Given the description of an element on the screen output the (x, y) to click on. 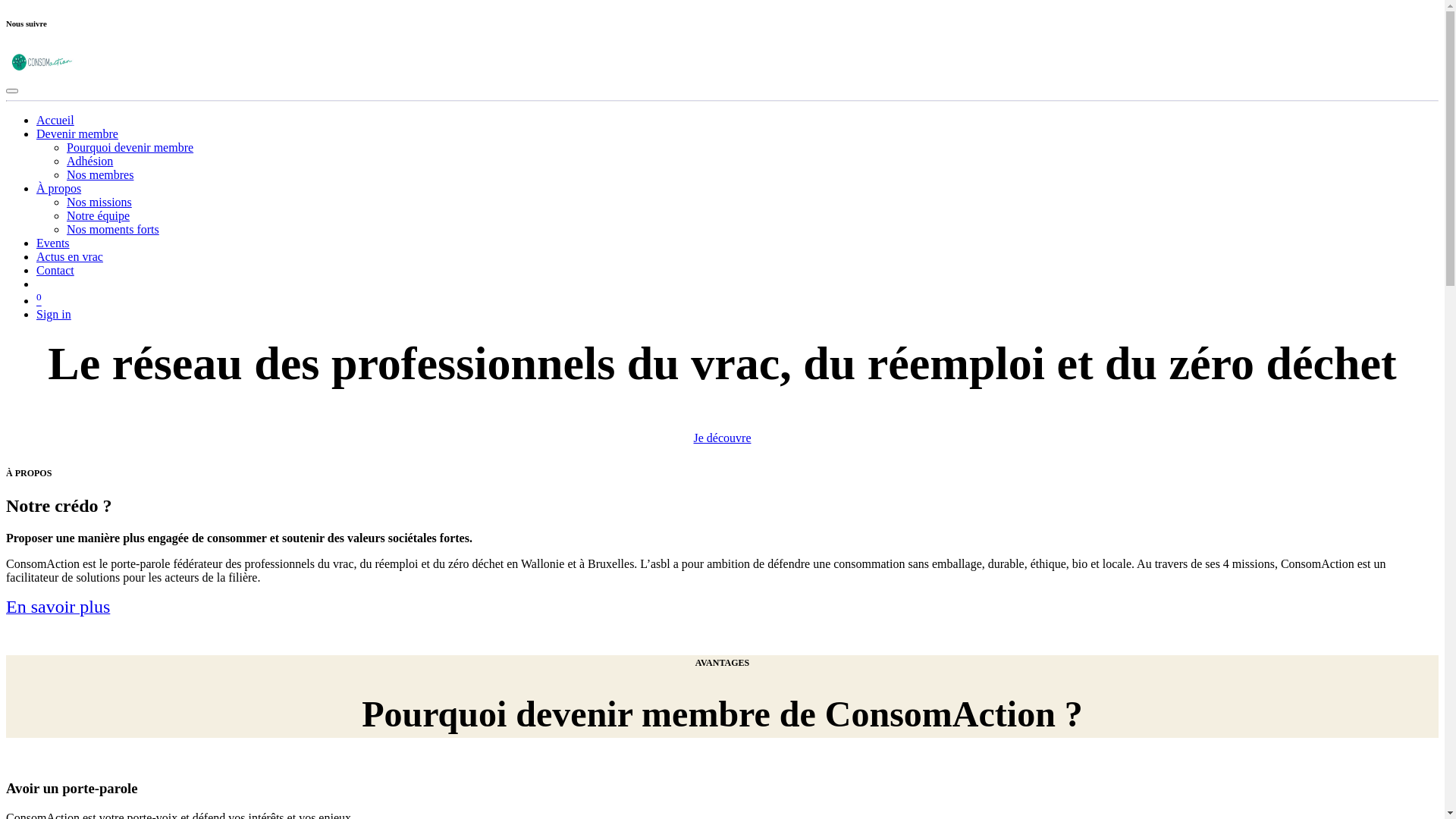
En savoir plus Element type: text (57, 608)
Pourquoi devenir membre Element type: text (129, 147)
ConsomAction Element type: hover (42, 72)
Nos missions Element type: text (98, 201)
Contact Element type: text (55, 269)
Events Element type: text (52, 242)
Actus en vrac Element type: text (69, 256)
Sign in Element type: text (53, 313)
Devenir membre Element type: text (77, 133)
Accueil Element type: text (55, 119)
0 Element type: text (38, 300)
Nos moments forts Element type: text (112, 228)
Nos membres Element type: text (99, 174)
